Given the description of an element on the screen output the (x, y) to click on. 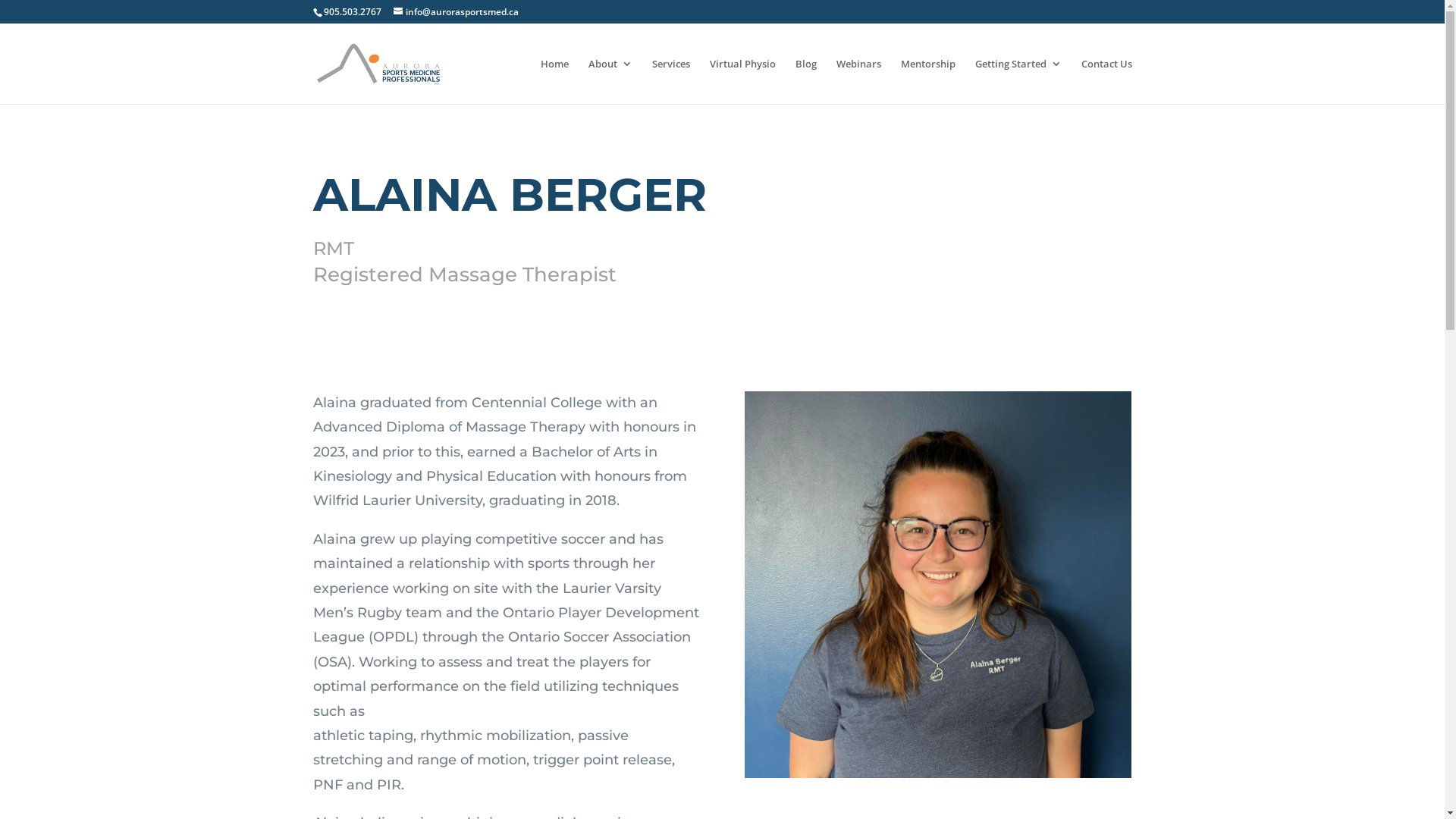
Alaina Berger Blue Background Element type: hover (937, 584)
About Element type: text (610, 80)
Mentorship Element type: text (927, 80)
ALAINA BERGER Element type: text (509, 194)
Home Element type: text (553, 80)
Virtual Physio Element type: text (742, 80)
info@aurorasportsmed.ca Element type: text (454, 11)
Getting Started Element type: text (1018, 80)
Webinars Element type: text (857, 80)
Blog Element type: text (804, 80)
Services Element type: text (671, 80)
Contact Us Element type: text (1106, 80)
